Given the description of an element on the screen output the (x, y) to click on. 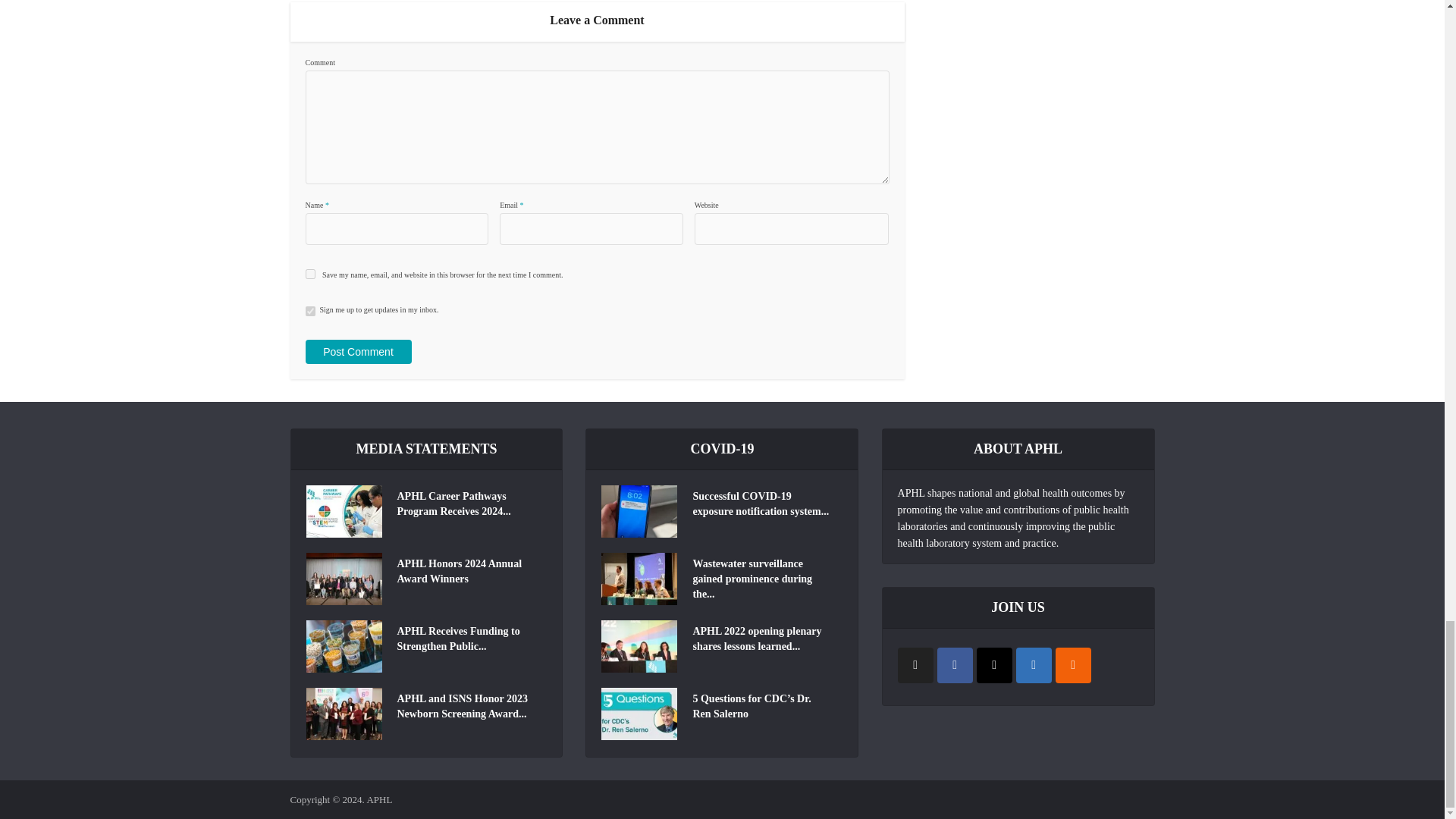
Post Comment (357, 351)
1 (309, 311)
yes (309, 274)
